Given the description of an element on the screen output the (x, y) to click on. 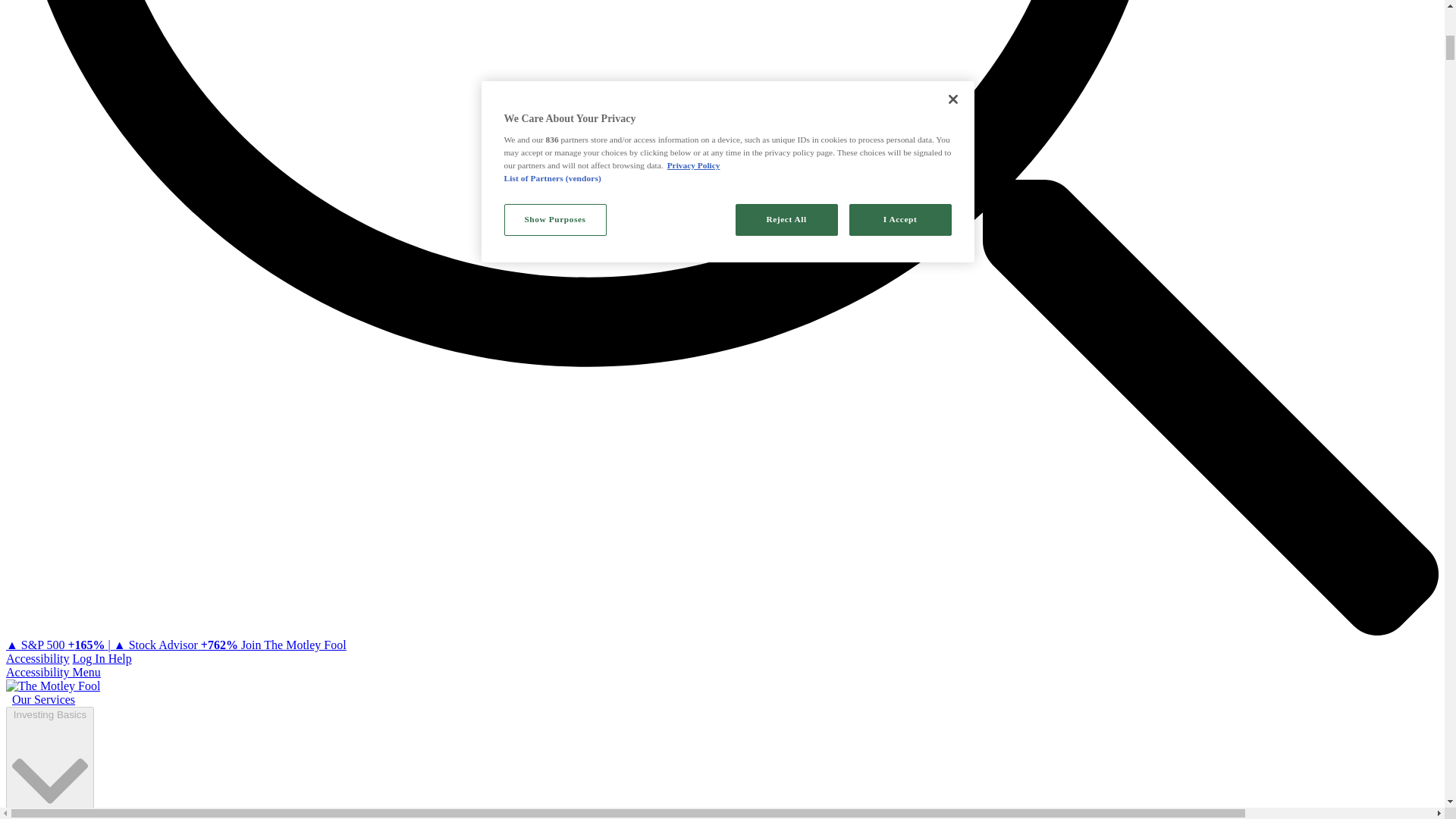
Accessibility (37, 658)
Our Services (43, 699)
Log In (89, 658)
Help (119, 658)
Accessibility Menu (52, 671)
